Given the description of an element on the screen output the (x, y) to click on. 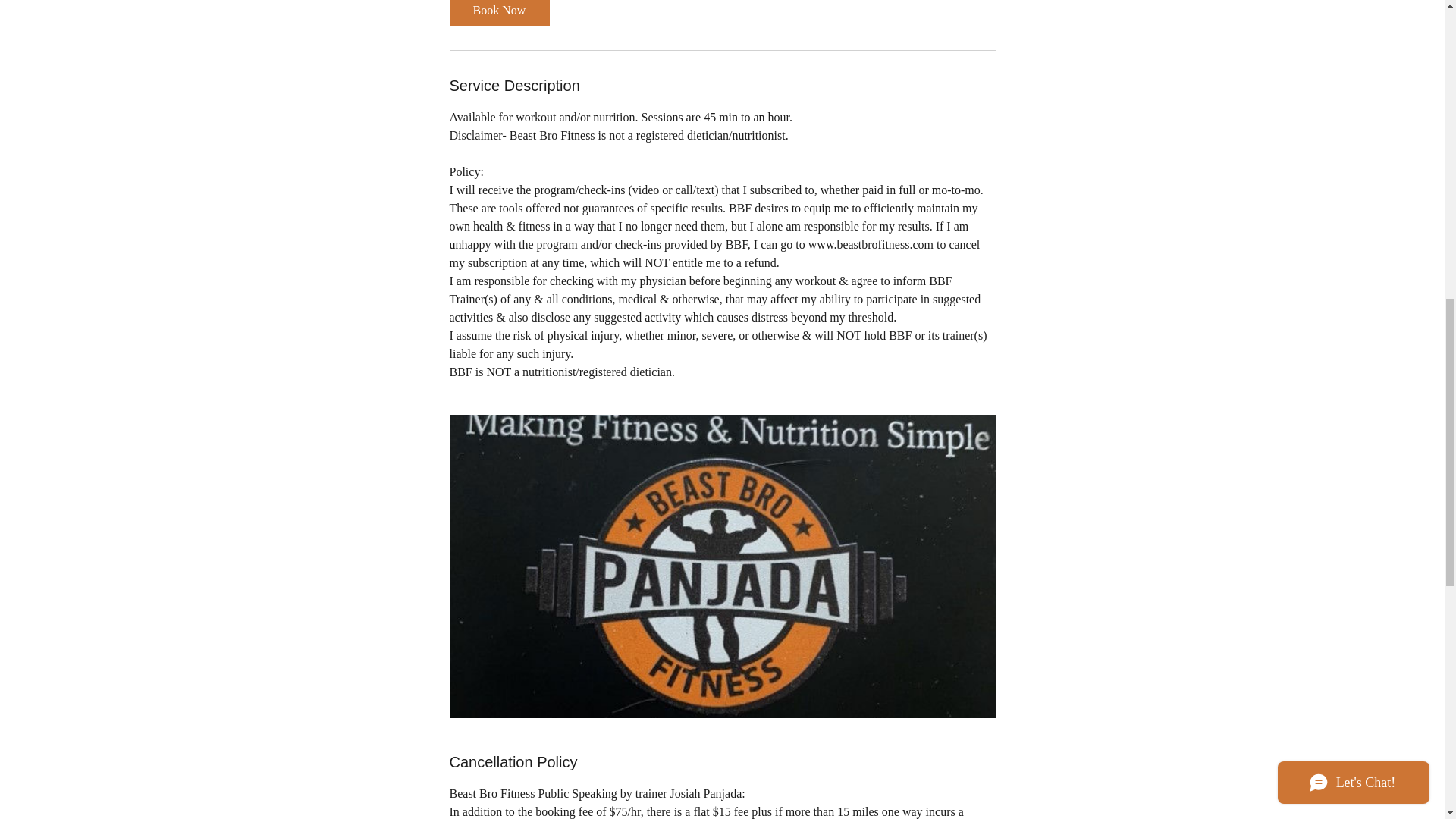
Book Now (498, 12)
